Given the description of an element on the screen output the (x, y) to click on. 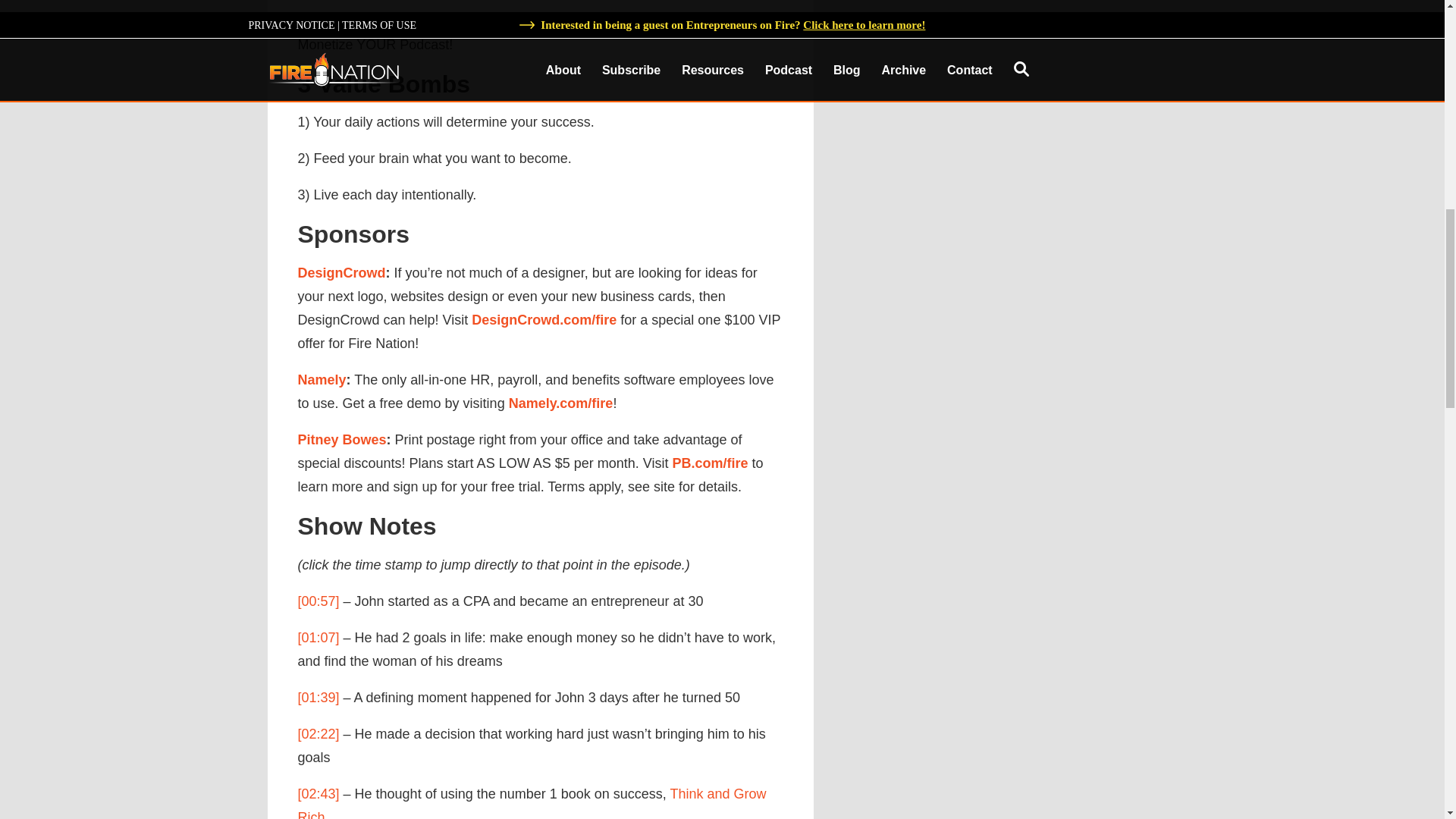
Free Podcast Course (361, 20)
Namely (321, 379)
Pitney Bowes (341, 439)
DesignCrowd (341, 272)
